Given the description of an element on the screen output the (x, y) to click on. 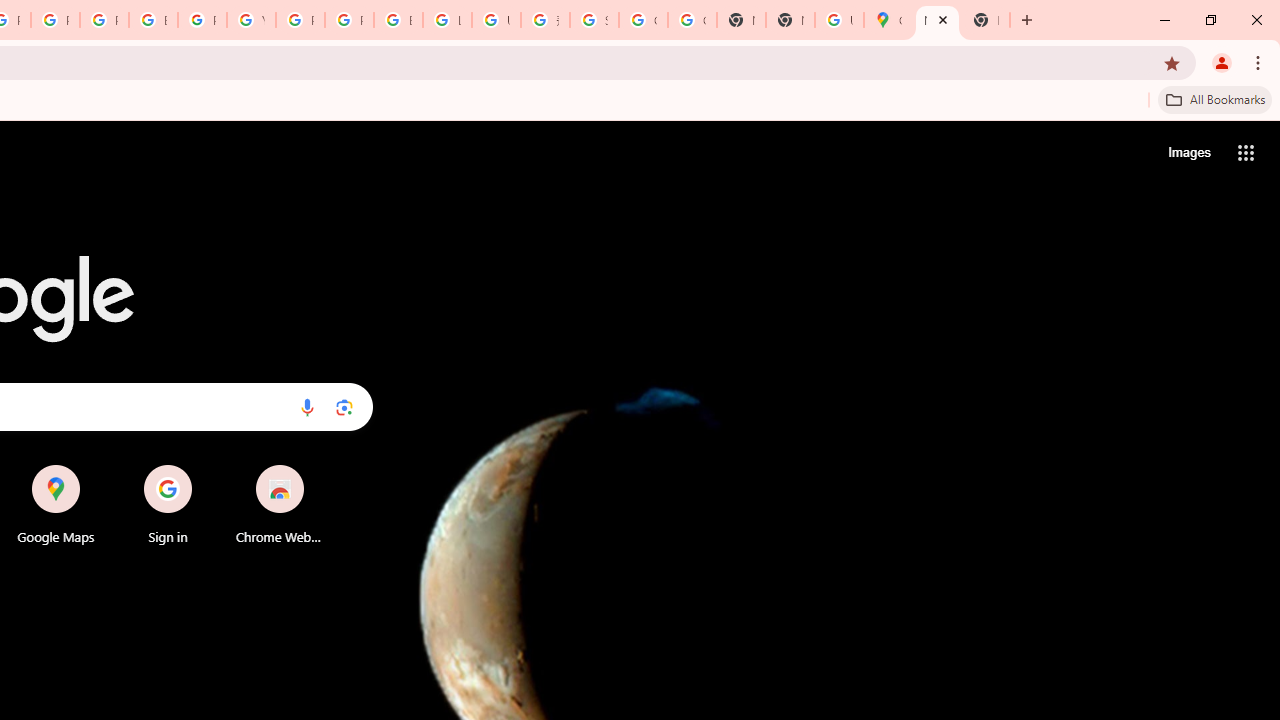
New Tab (937, 20)
Sign in - Google Accounts (594, 20)
YouTube (251, 20)
New Tab (985, 20)
Use Google Maps in Space - Google Maps Help (839, 20)
Privacy Help Center - Policies Help (104, 20)
